Given the description of an element on the screen output the (x, y) to click on. 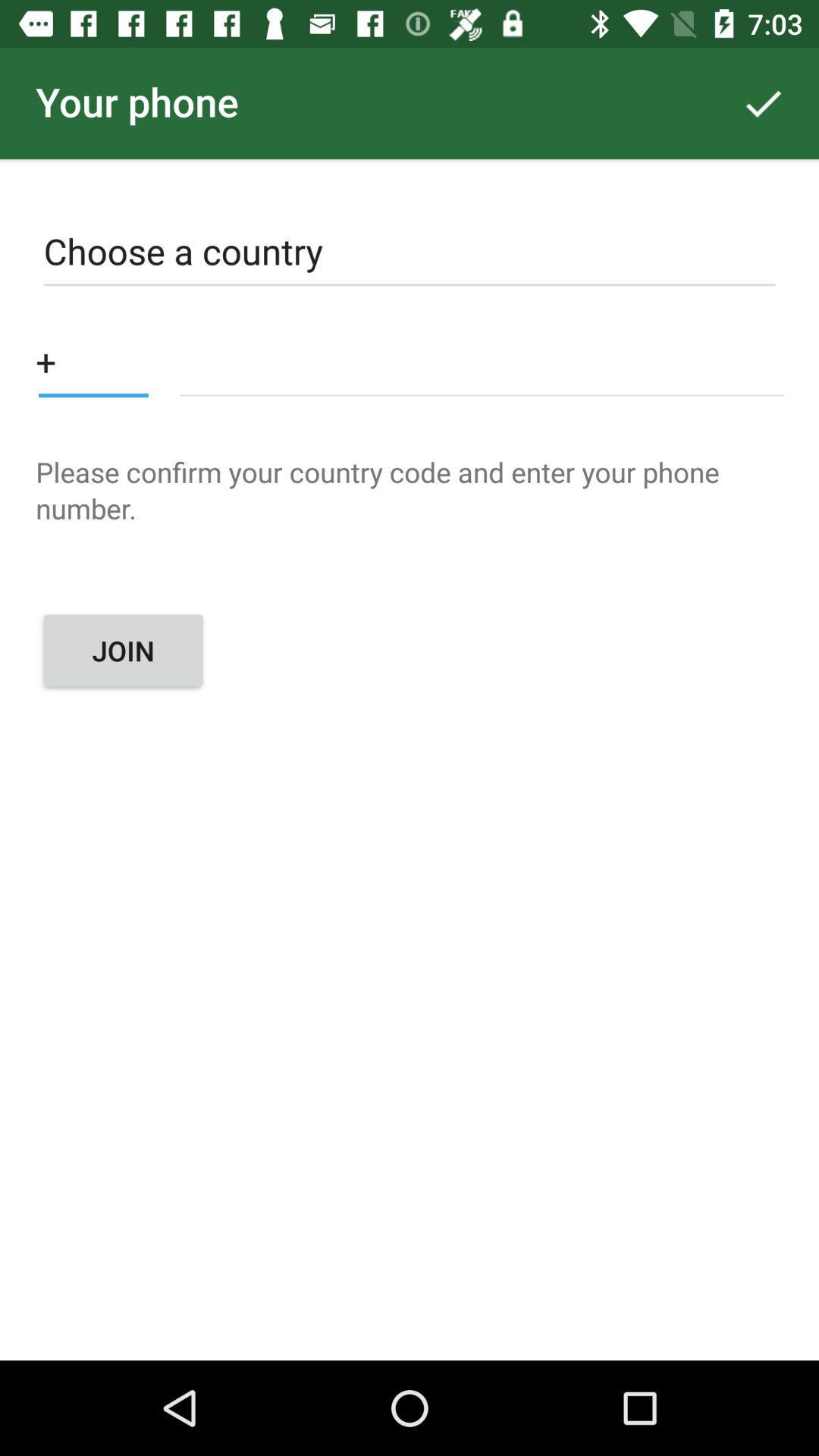
shows add option (93, 361)
